Given the description of an element on the screen output the (x, y) to click on. 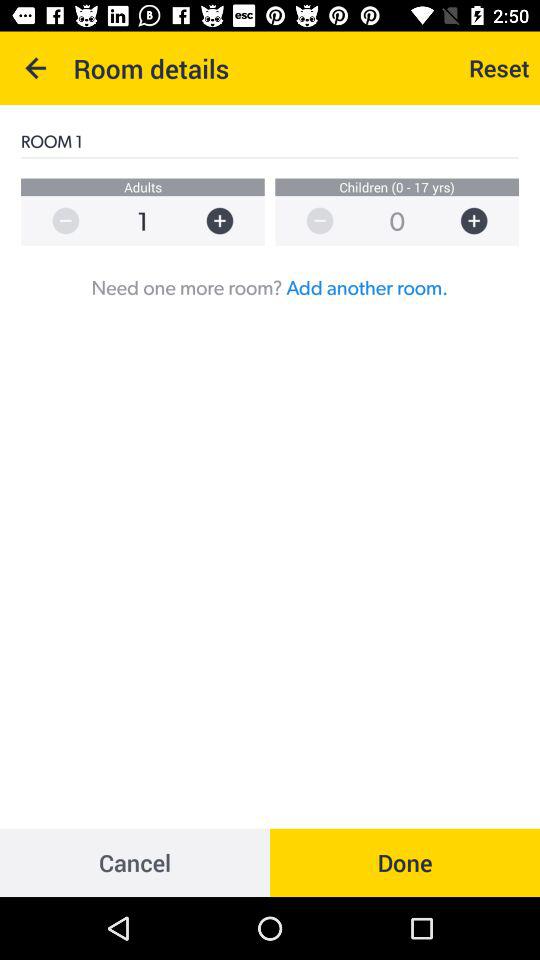
press item to the left of the room details icon (36, 68)
